Given the description of an element on the screen output the (x, y) to click on. 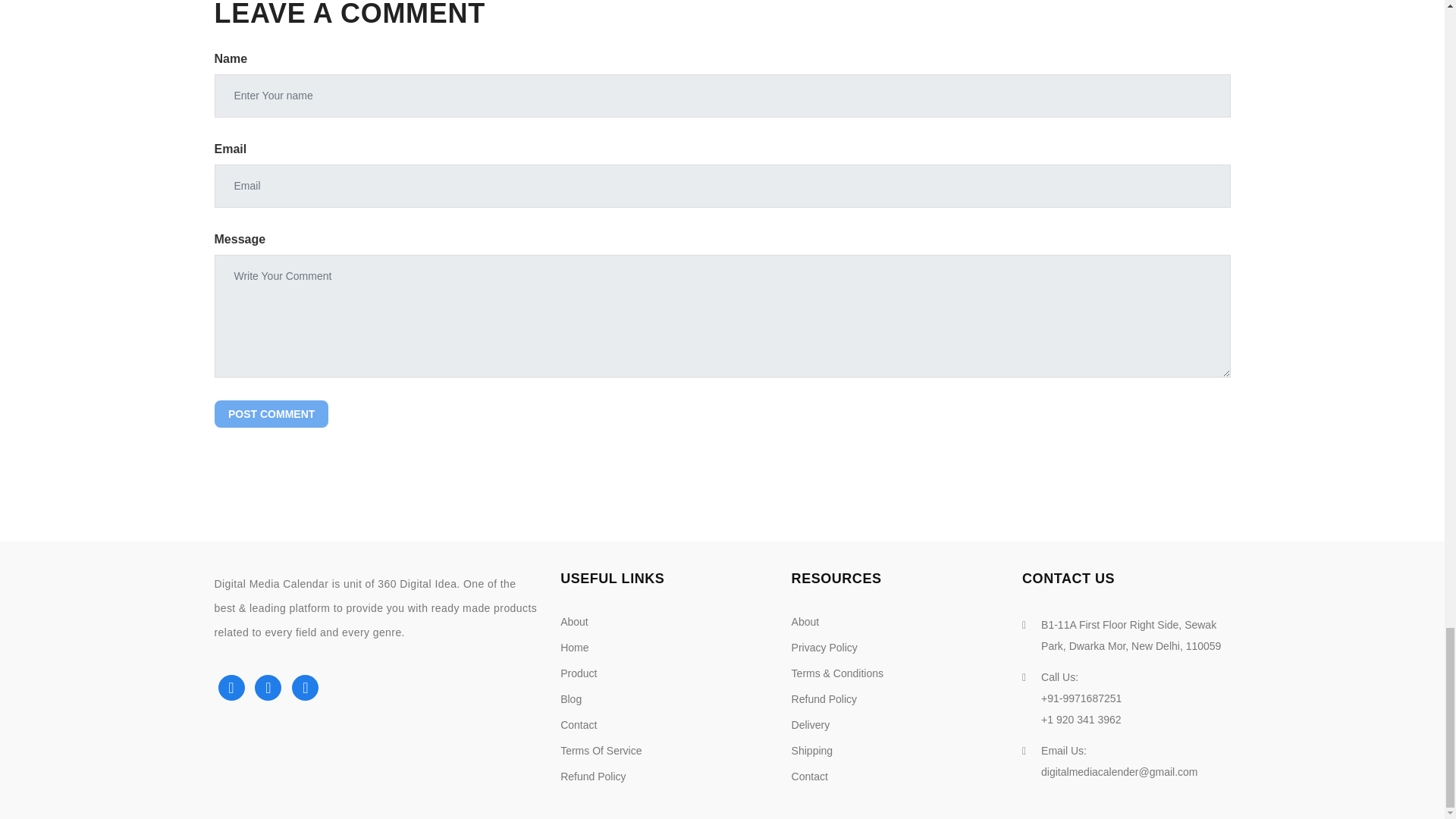
Blog (570, 698)
POST COMMENT (270, 413)
Contact (578, 725)
Refund Policy (593, 776)
Delivery (810, 725)
Refund Policy (824, 698)
Product (578, 673)
About (574, 621)
Privacy Policy (824, 647)
Shipping (812, 750)
